Given the description of an element on the screen output the (x, y) to click on. 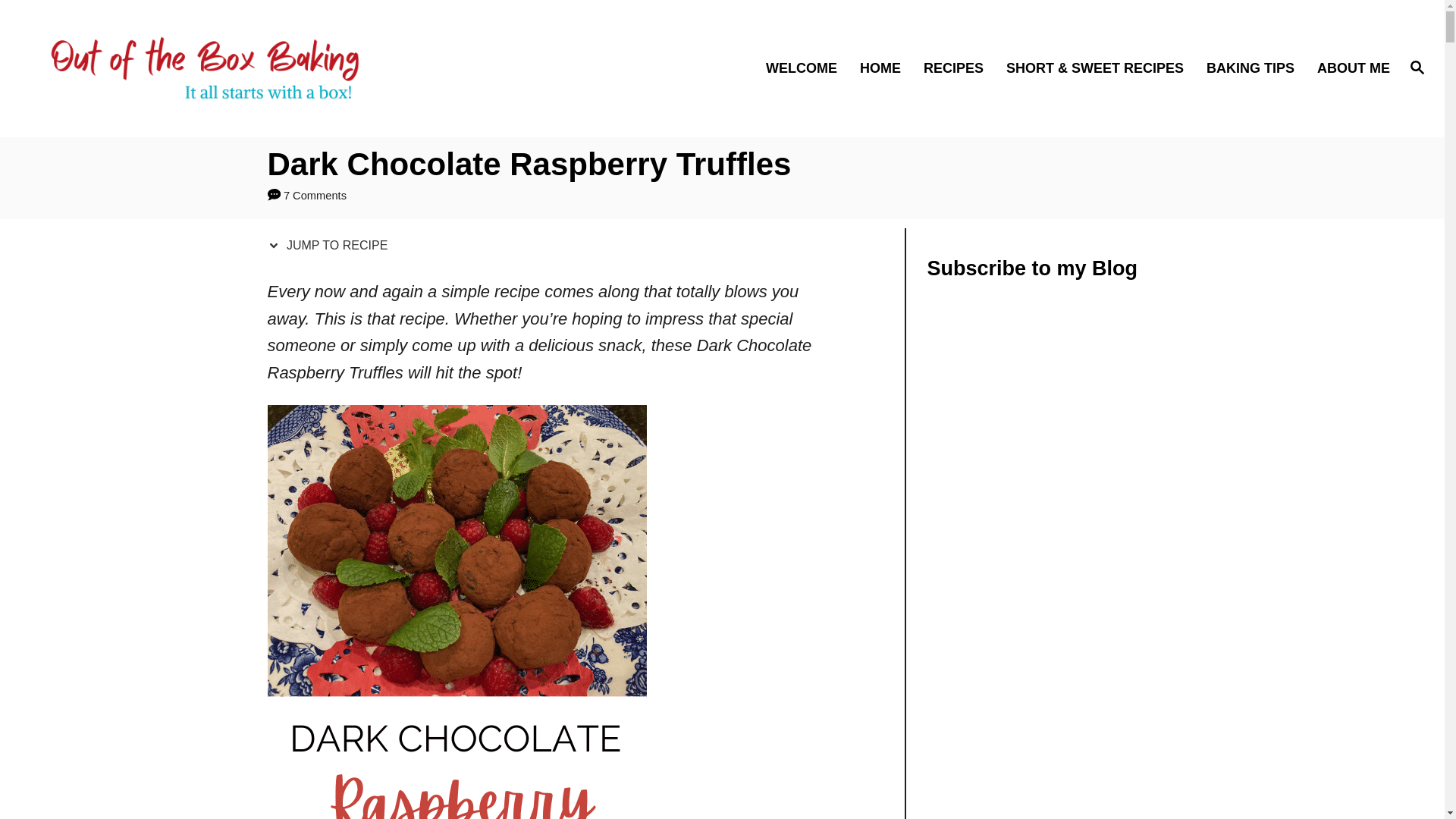
WELCOME (808, 68)
Out of the Box Baking (204, 68)
HOME (887, 68)
RECIPES (959, 68)
Magnifying Glass (1416, 67)
